Given the description of an element on the screen output the (x, y) to click on. 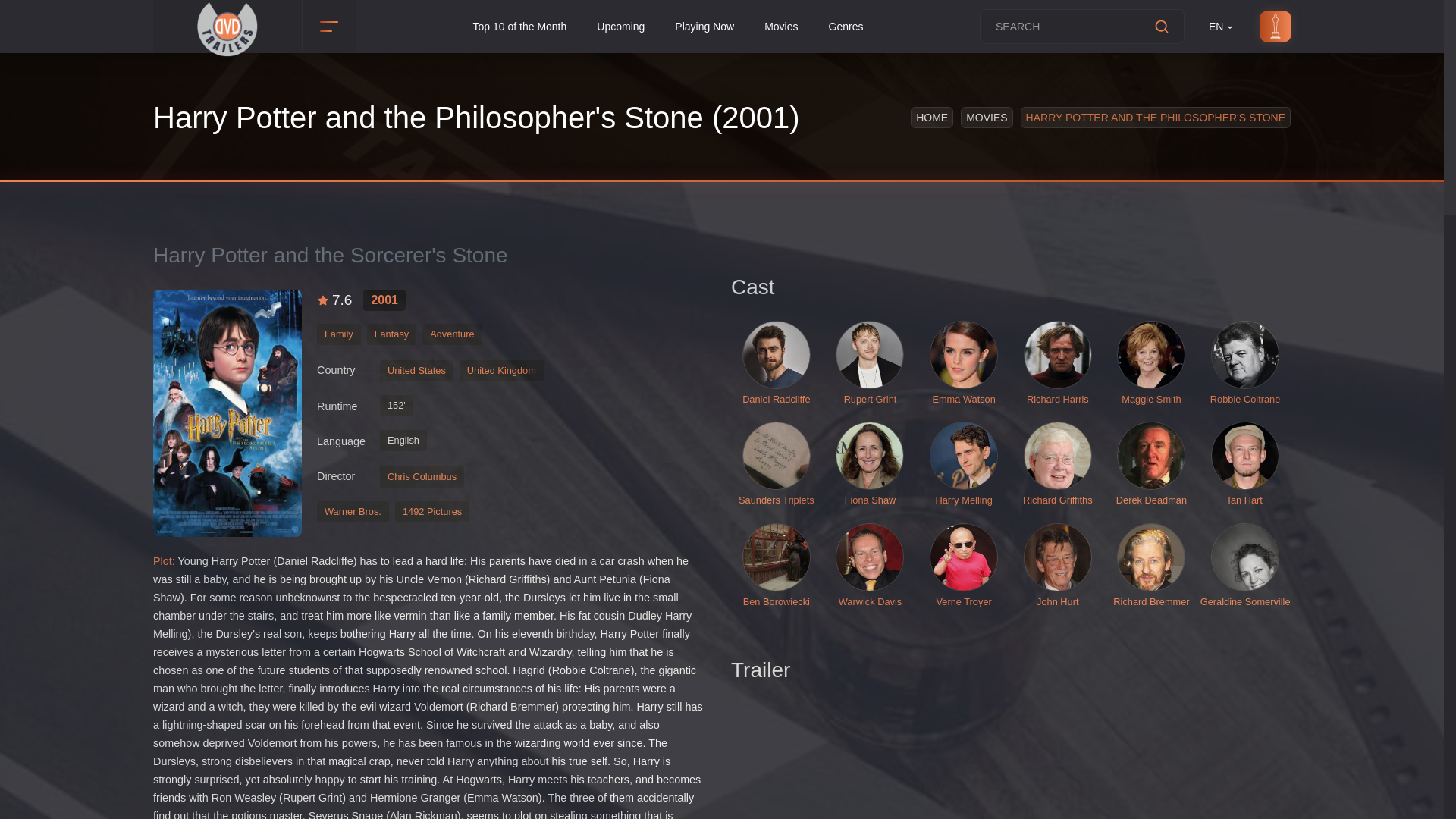
United Kingdom (505, 373)
1492 Pictures (435, 510)
United States (420, 373)
Warner Bros. (355, 510)
Top 10 of the Month (520, 26)
2001 (384, 300)
Playing Now (704, 26)
Chris Columbus (425, 480)
Upcoming (620, 26)
